Given the description of an element on the screen output the (x, y) to click on. 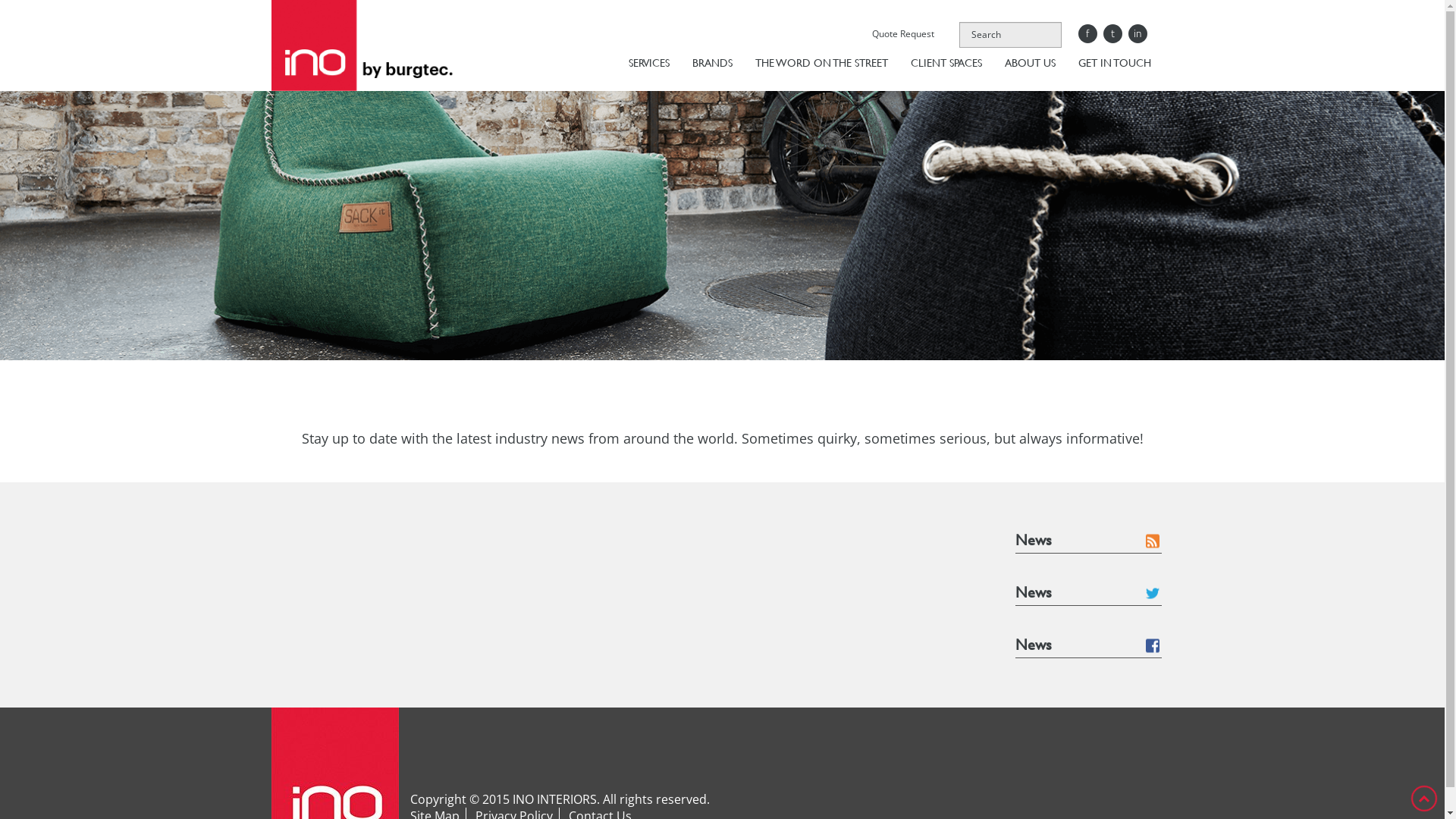
SERVICES Element type: text (648, 64)
GET IN TOUCH Element type: text (1108, 64)
f Element type: text (1087, 33)
CLIENT SPACES Element type: text (946, 64)
in Element type: text (1137, 33)
Quote Request Element type: text (900, 33)
BRANDS Element type: text (711, 64)
Easdowns - INO Furniture Element type: hover (363, 45)
t Element type: text (1111, 33)
ABOUT US Element type: text (1029, 64)
THE WORD ON THE STREET Element type: text (820, 64)
